Given the description of an element on the screen output the (x, y) to click on. 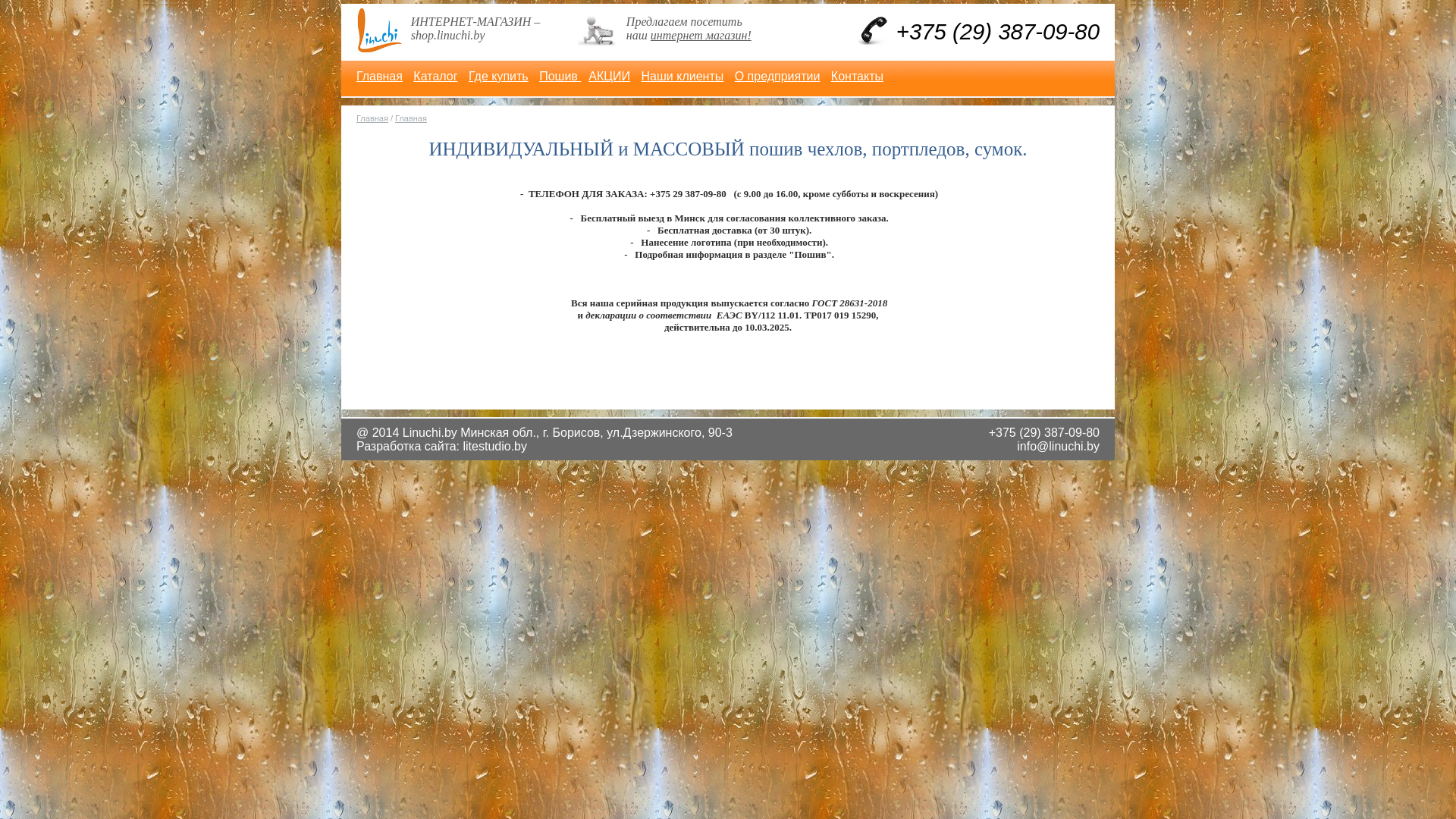
@ 2014 Linuchi.by Element type: text (406, 432)
+375 (29) 387-09-80 Element type: text (1043, 432)
info@linuchi.by Element type: text (1057, 445)
